Given the description of an element on the screen output the (x, y) to click on. 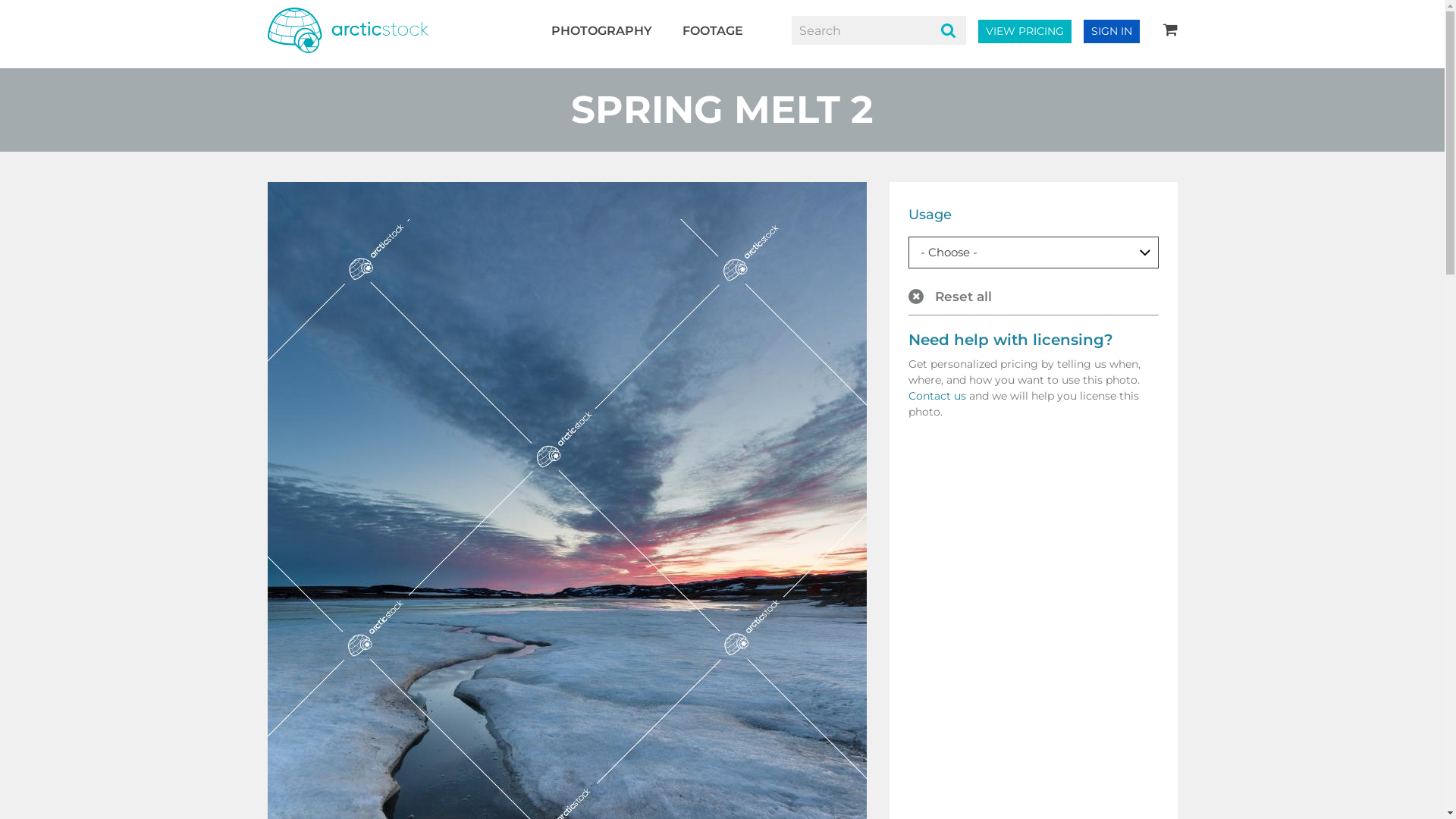
SIGN IN Element type: text (1110, 31)
Contact us Element type: text (937, 394)
Skip to main content Element type: text (0, 0)
Reset all Element type: text (1033, 301)
FOOTAGE Element type: text (711, 29)
PHOTOGRAPHY Element type: text (601, 29)
VIEW PRICING Element type: text (1024, 31)
